Given the description of an element on the screen output the (x, y) to click on. 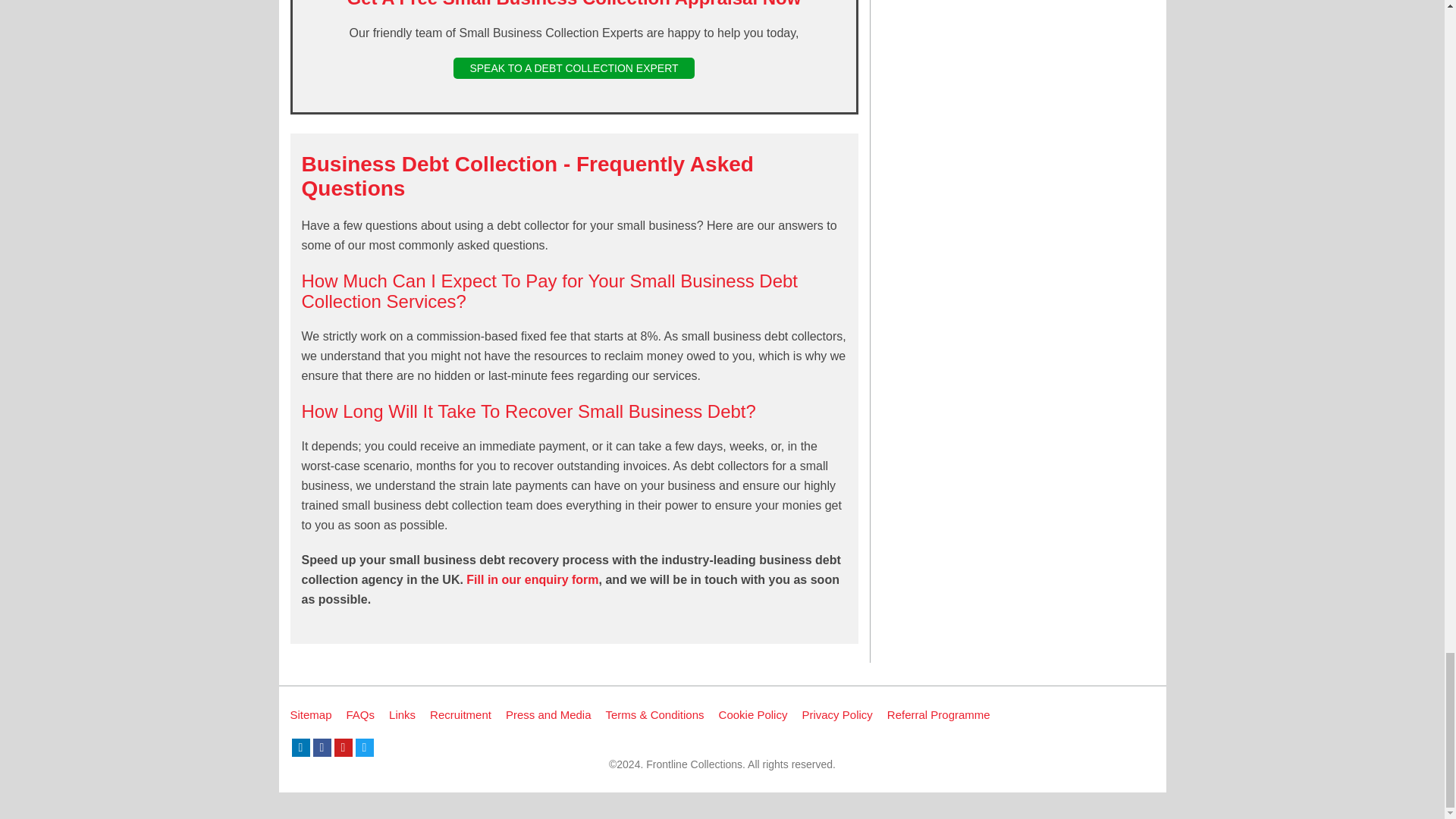
YouTube (342, 747)
Facebook (321, 747)
LinkedIn (299, 747)
Twitter (363, 747)
